Given the description of an element on the screen output the (x, y) to click on. 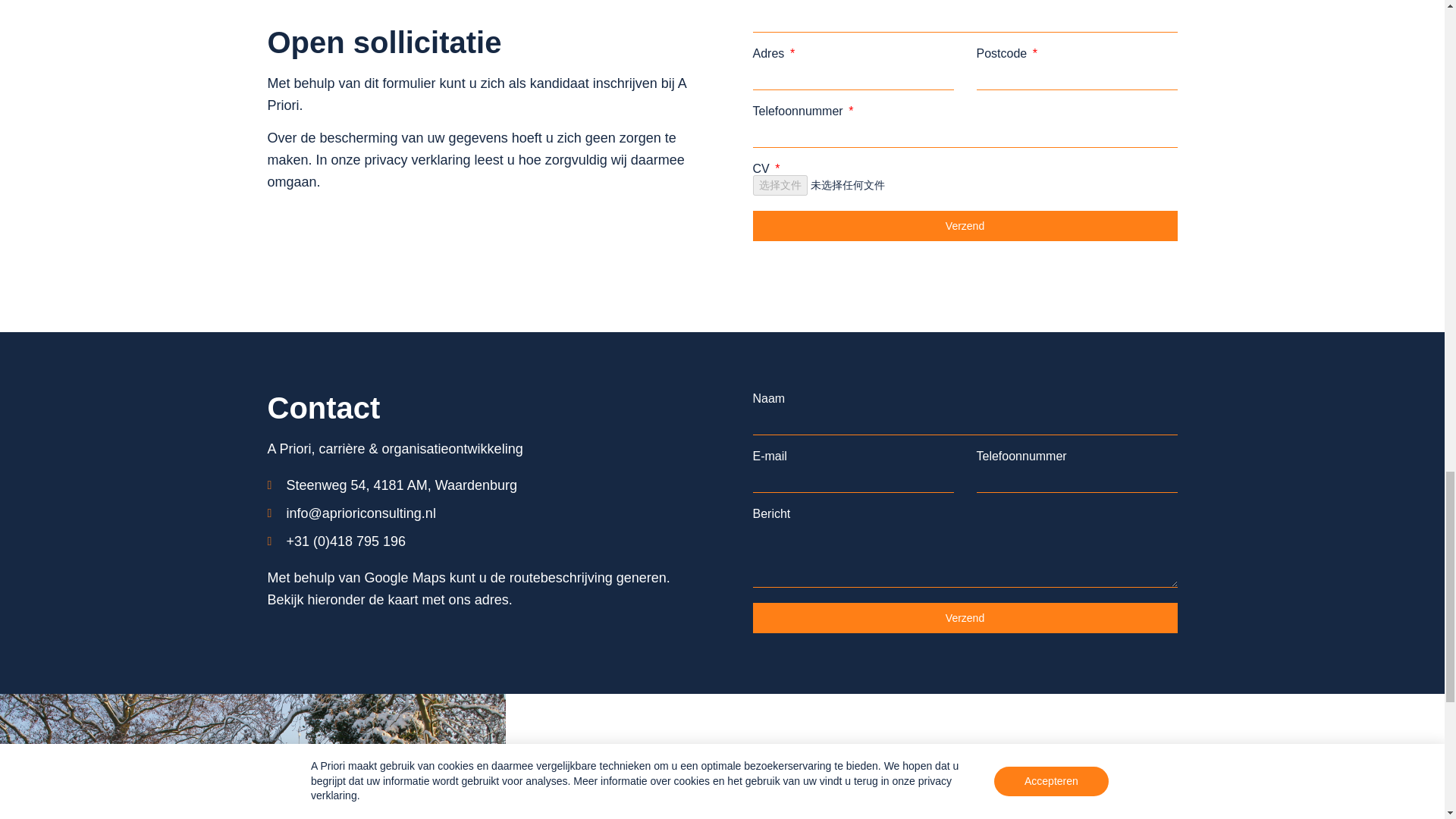
Verzend (964, 617)
Verzend (964, 225)
